Given the description of an element on the screen output the (x, y) to click on. 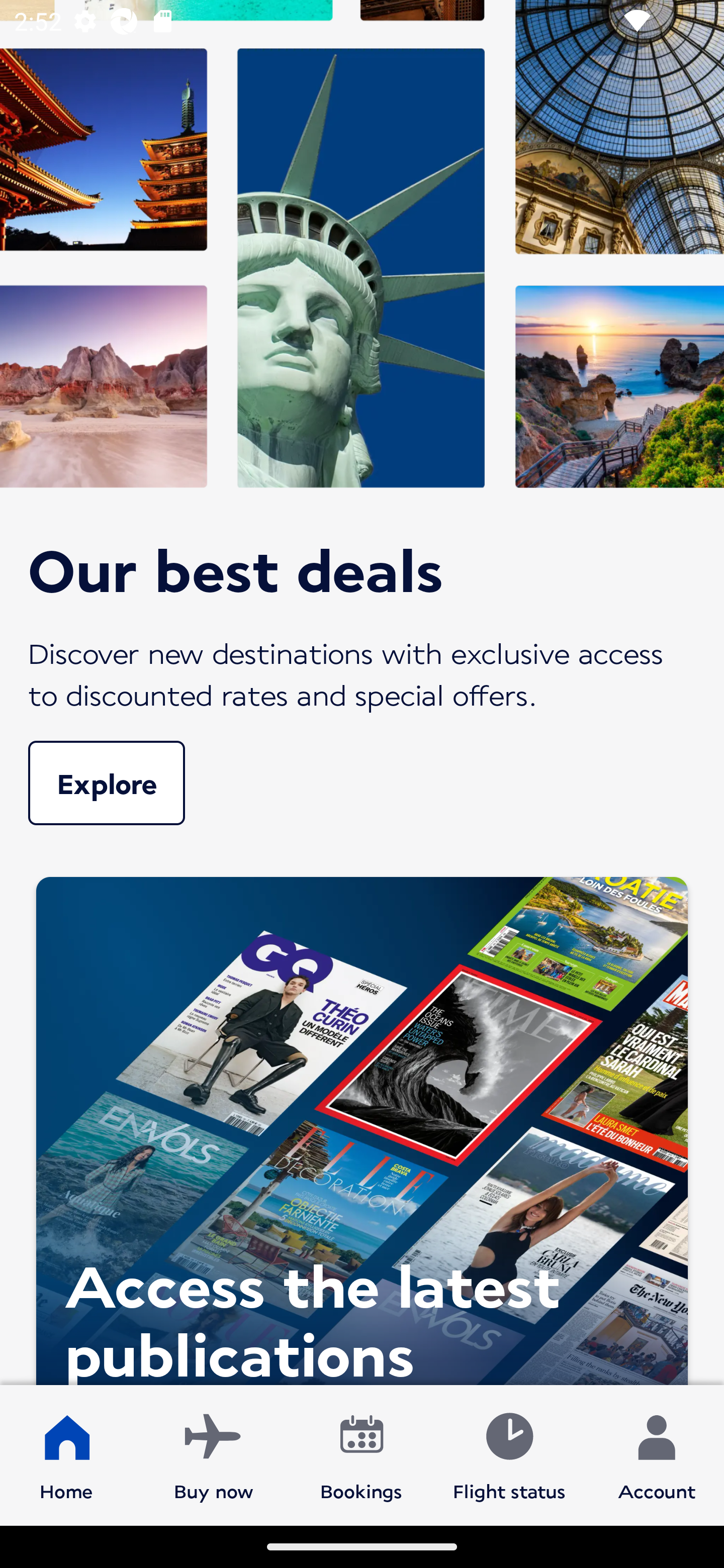
Access the latest publications (361, 1125)
Buy now (213, 1454)
Bookings (361, 1454)
Flight status (509, 1454)
Account (657, 1454)
